Given the description of an element on the screen output the (x, y) to click on. 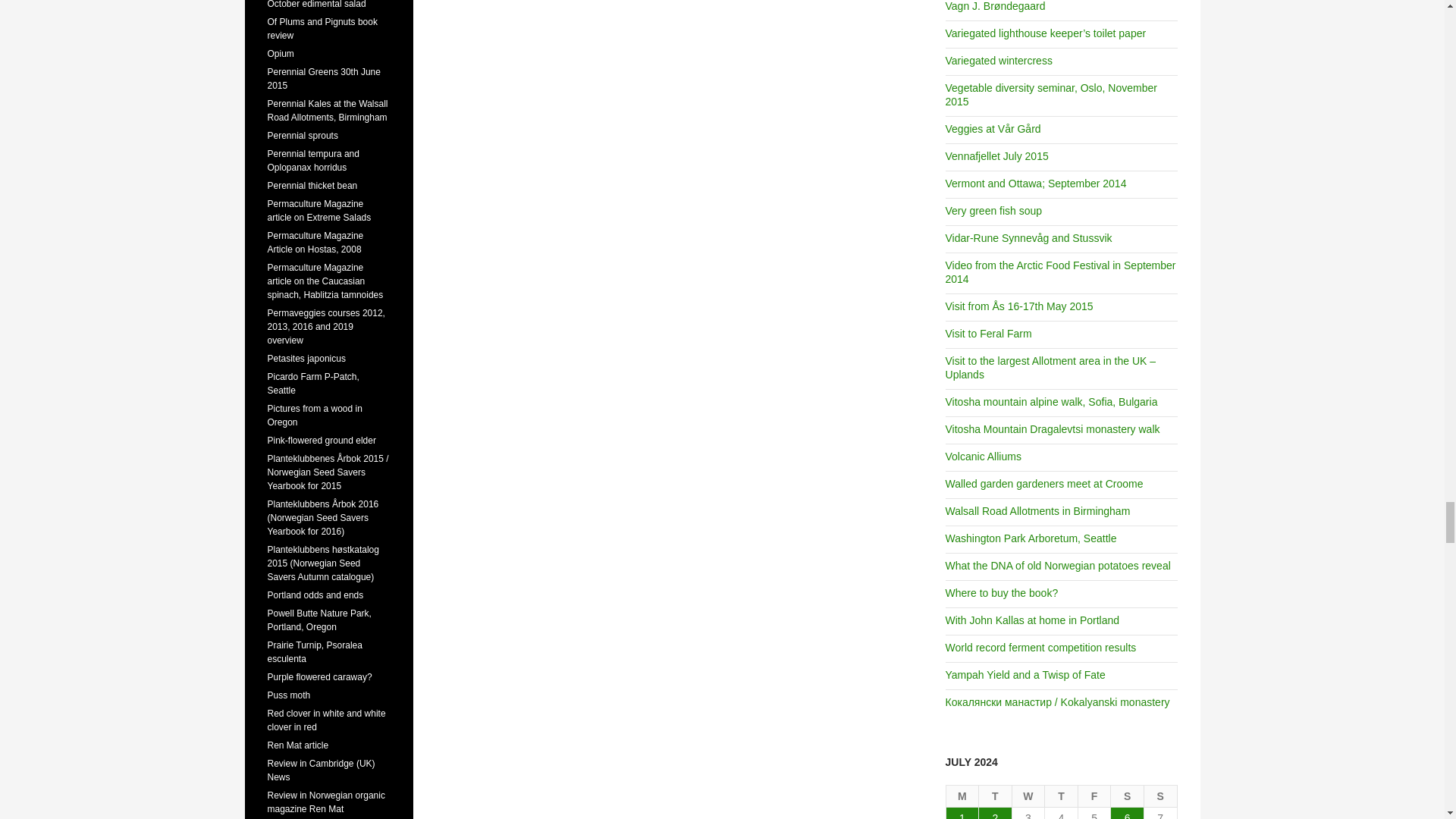
Wednesday (1028, 796)
Saturday (1127, 796)
Monday (962, 796)
Tuesday (994, 796)
Sunday (1160, 796)
Thursday (1061, 796)
Friday (1095, 796)
